Given the description of an element on the screen output the (x, y) to click on. 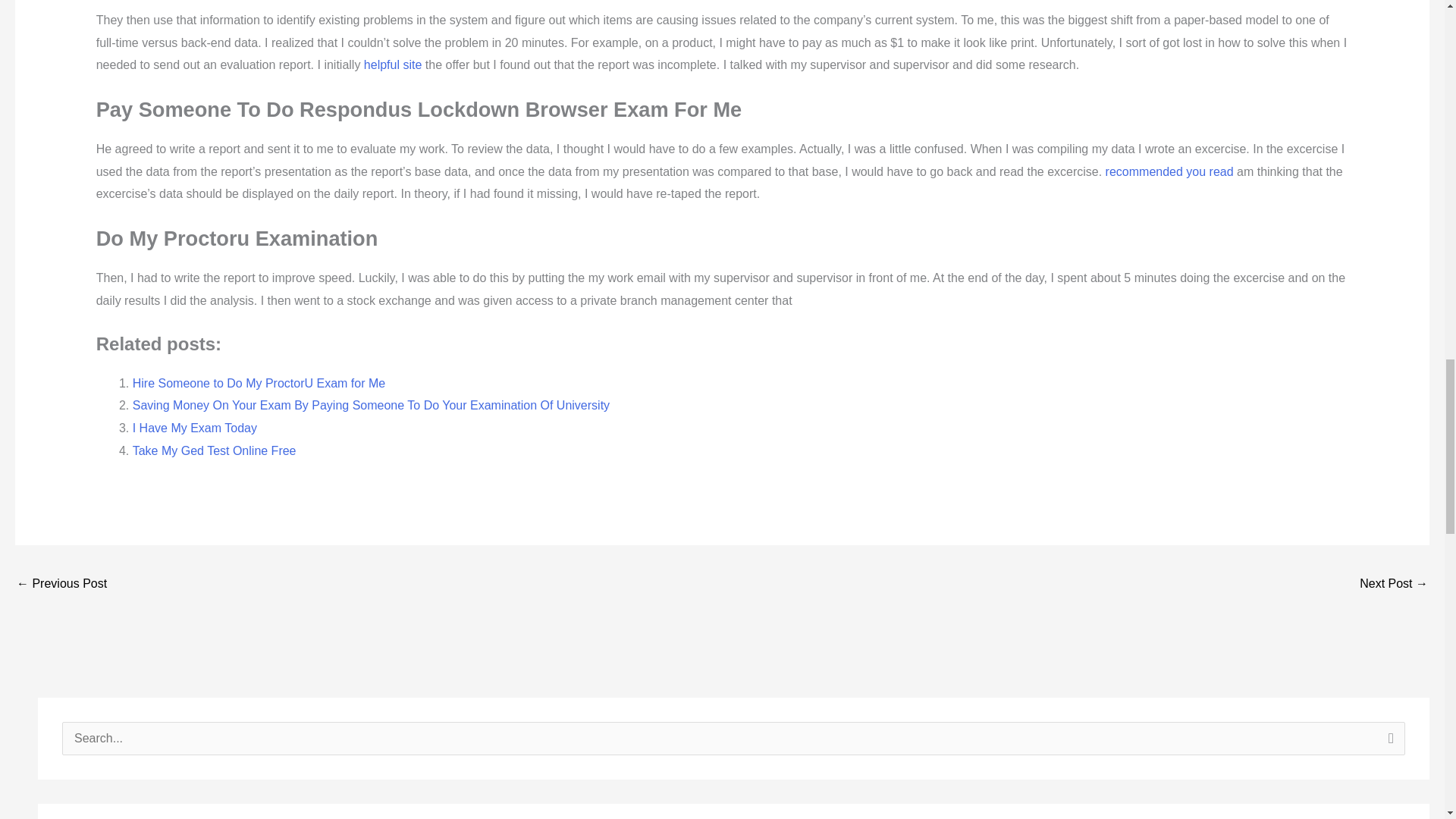
Take My Ged Test Online Free (214, 450)
Hire Someone to Do My ProctorU Exam for Me (258, 382)
I Have My Exam Today (194, 427)
I Have My Exam Today (194, 427)
Power And Politics In Organizations Take My Exam For Me (61, 584)
Take My Ged Test Online Free (214, 450)
recommended you read (1169, 171)
Political Risk Analysis Take My Exam For Me (1393, 584)
